Given the description of an element on the screen output the (x, y) to click on. 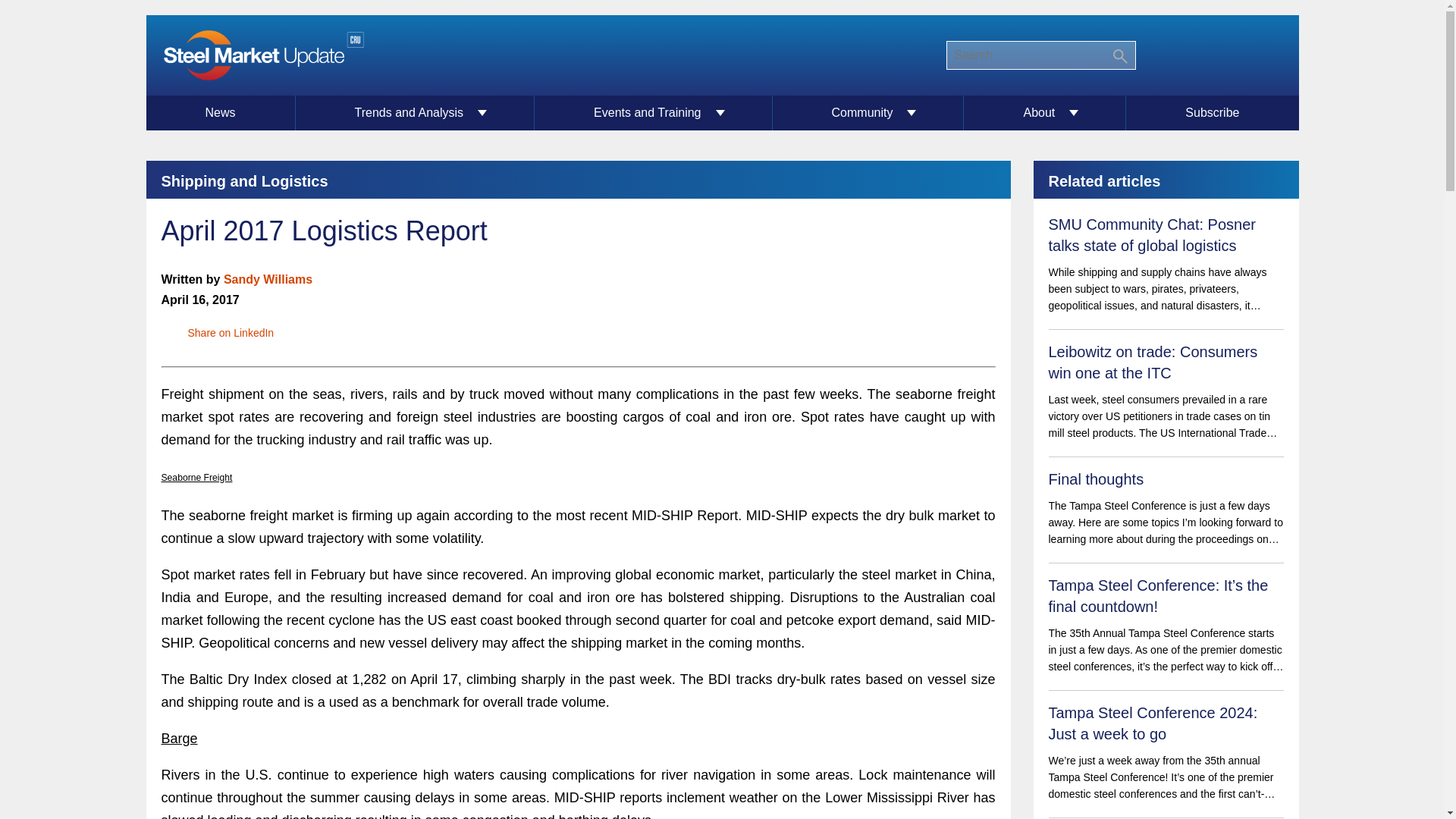
Trends and Analysis (415, 112)
News (220, 112)
Home (262, 55)
